Given the description of an element on the screen output the (x, y) to click on. 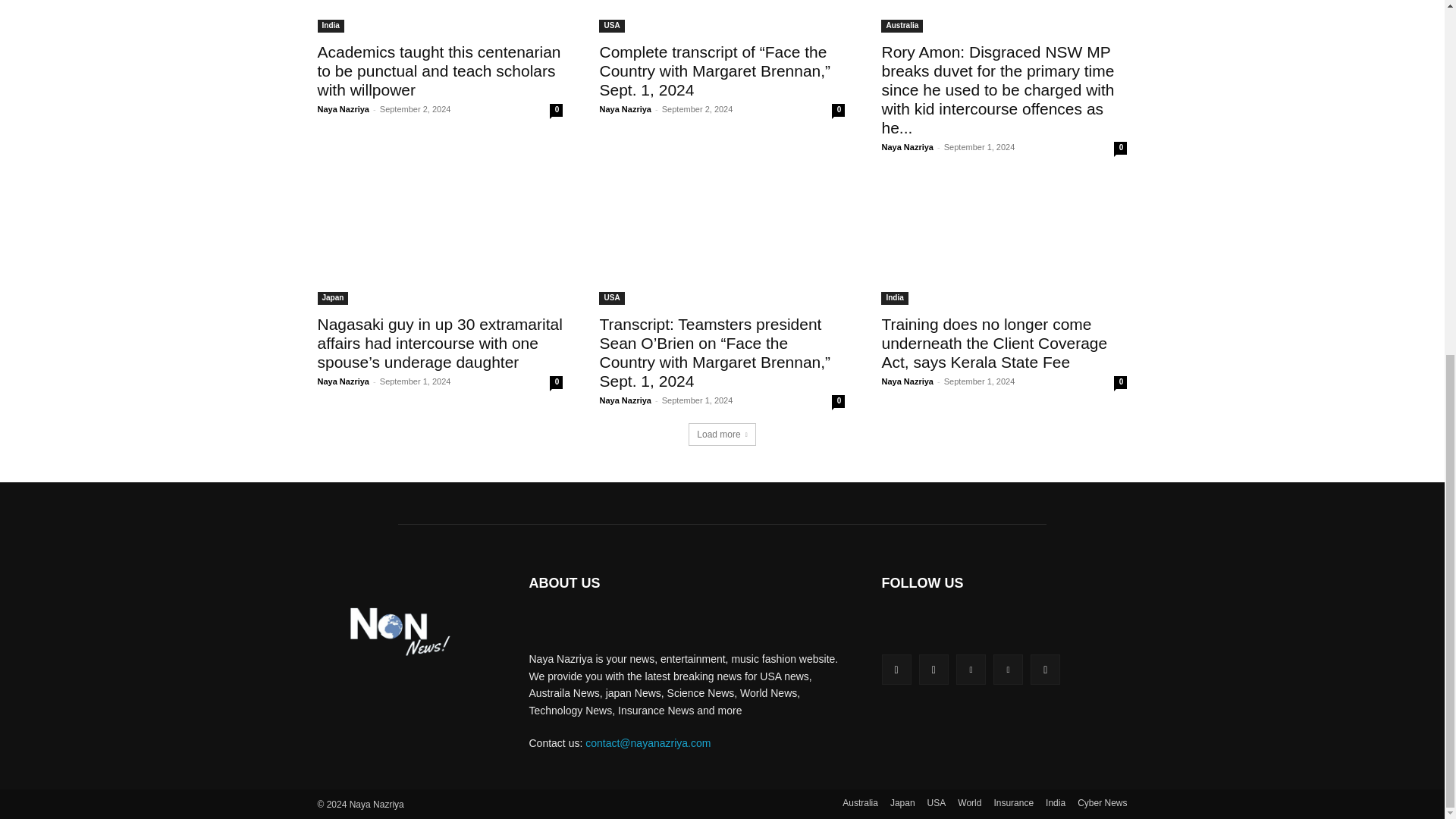
0 (1119, 147)
0 (556, 110)
USA (611, 25)
Naya Nazriya (343, 108)
0 (837, 110)
Australia (901, 25)
Japan (332, 297)
